Given the description of an element on the screen output the (x, y) to click on. 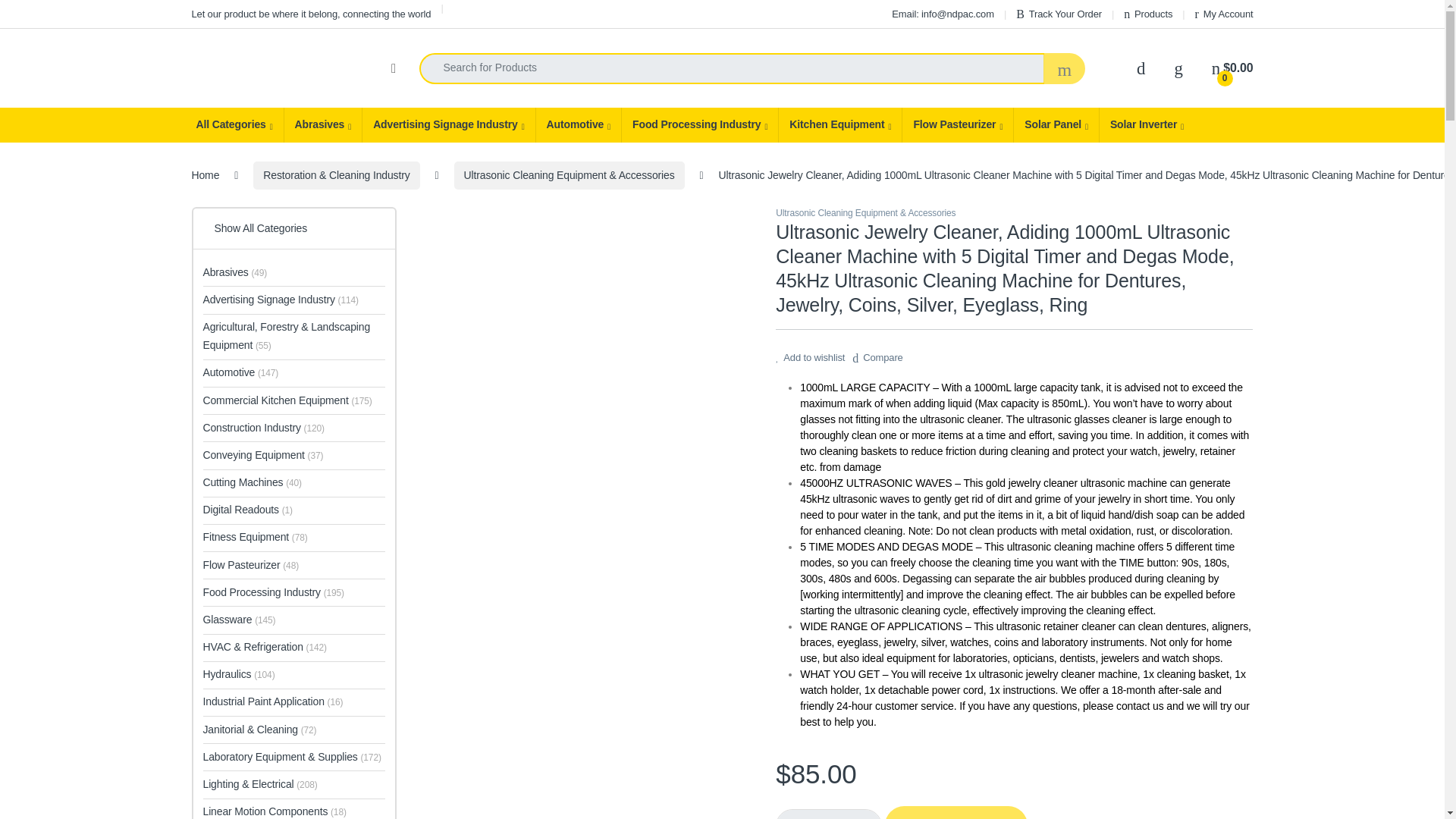
Track Your Order (1059, 13)
Let our product be where it belong, connecting the world (310, 13)
Products (1148, 13)
My Account (1224, 13)
Products (1148, 13)
Track Your Order (1059, 13)
1 (829, 814)
Let our product be where it belong, connecting the world (310, 13)
My Account (1224, 13)
